Given the description of an element on the screen output the (x, y) to click on. 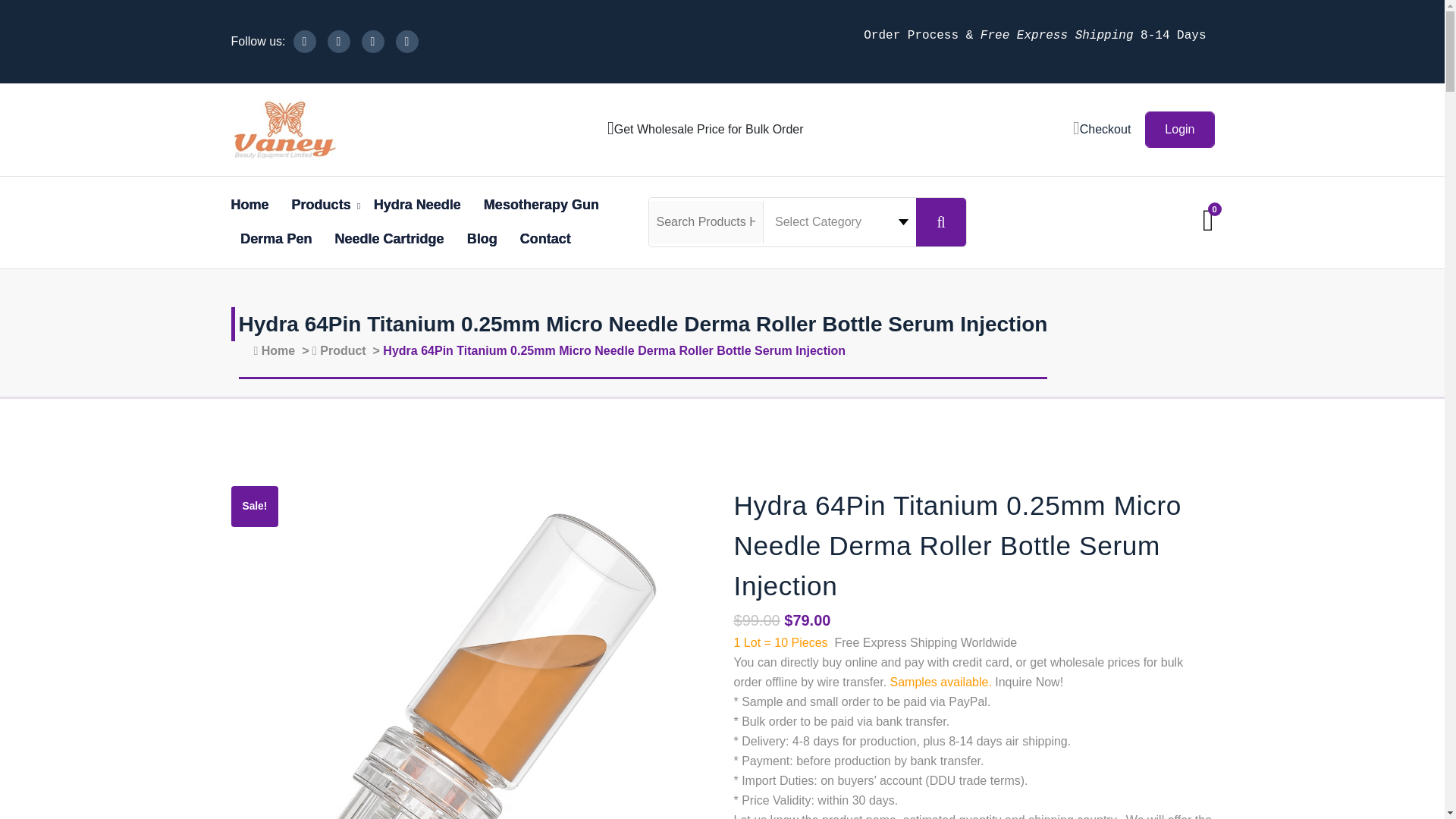
Checkout (1102, 129)
Login (1178, 129)
